Given the description of an element on the screen output the (x, y) to click on. 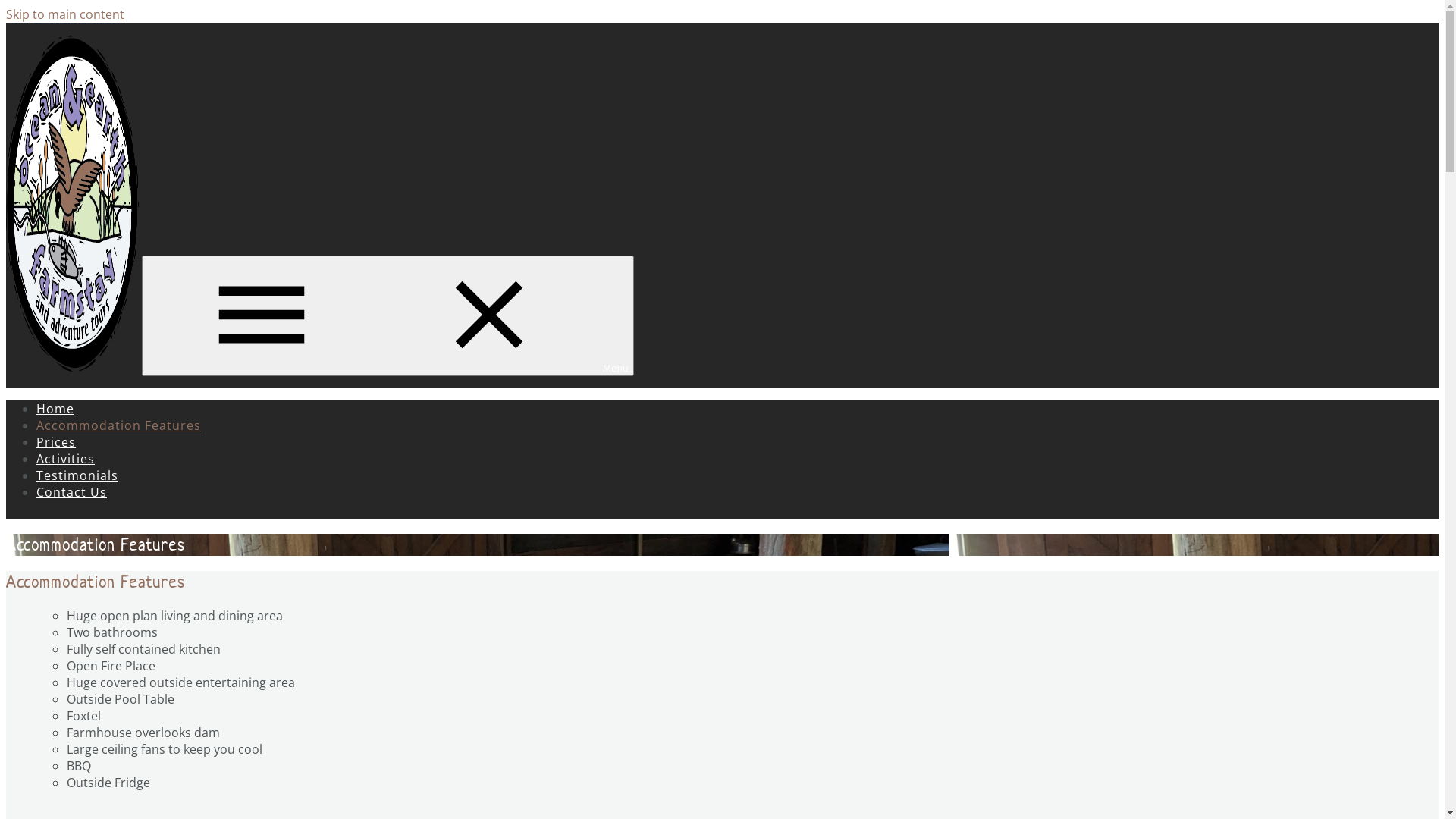
Skip to main content Element type: text (65, 14)
Testimonials Element type: text (77, 475)
Menu Element type: text (387, 315)
Prices Element type: text (55, 441)
Home Element type: text (55, 408)
Contact Us Element type: text (71, 491)
Accommodation Features Element type: text (118, 425)
Activities Element type: text (65, 458)
